Given the description of an element on the screen output the (x, y) to click on. 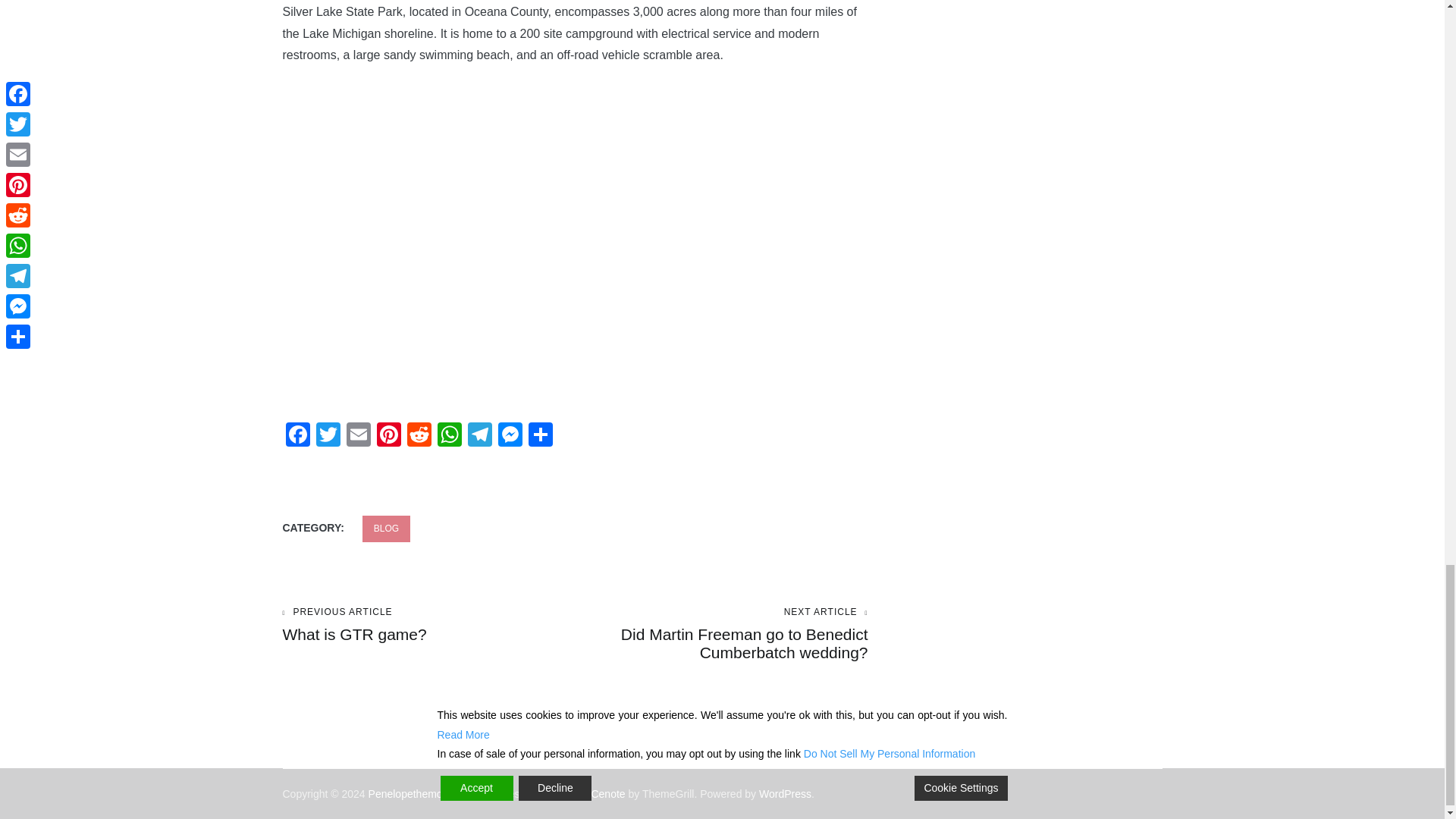
Twitter (327, 436)
Facebook (297, 436)
WhatsApp (448, 436)
Email (357, 436)
Telegram (479, 436)
Messenger (509, 436)
Penelopethemovie (412, 793)
Reddit (418, 436)
Facebook (297, 436)
